Given the description of an element on the screen output the (x, y) to click on. 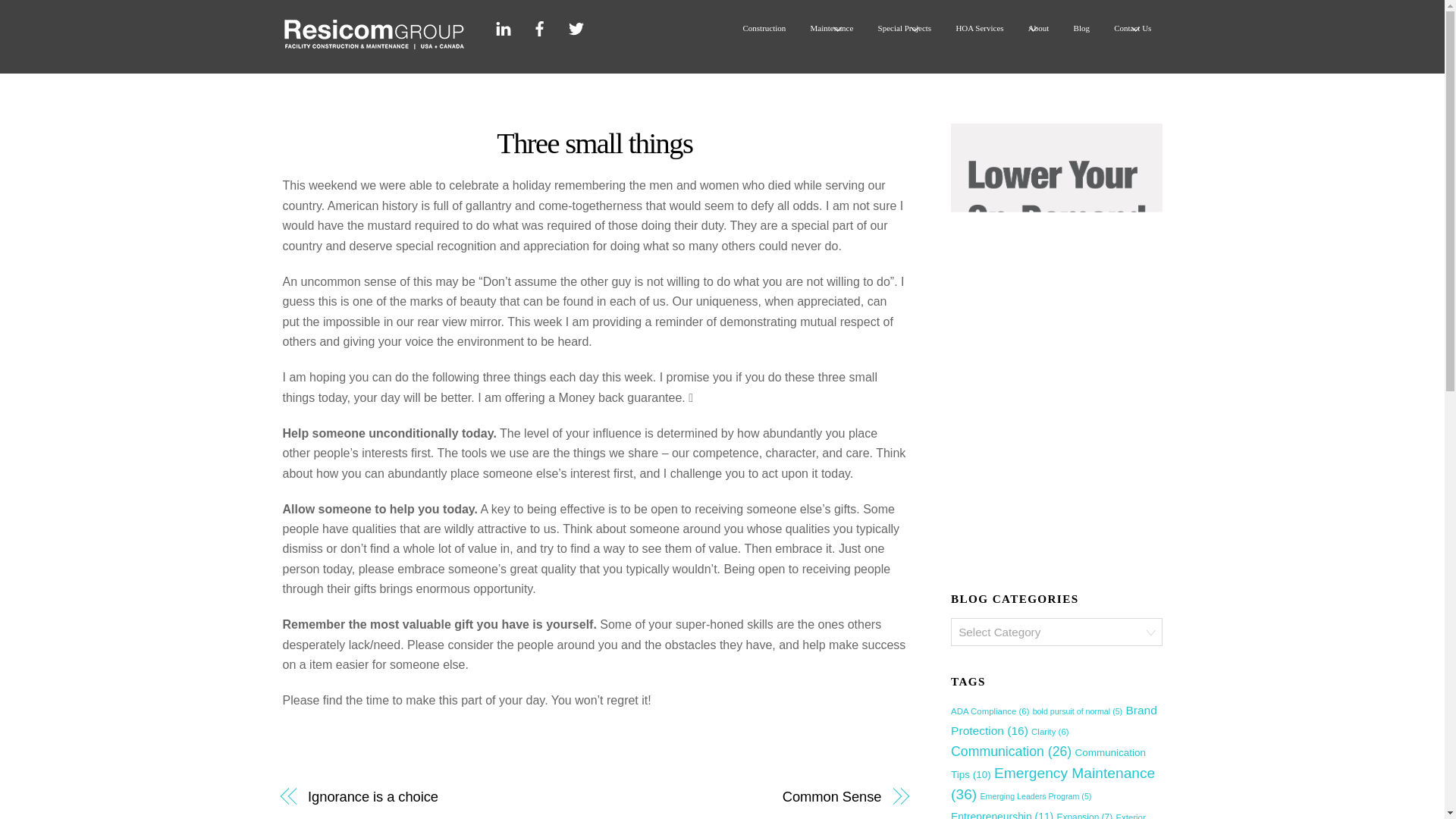
Construction (763, 28)
Contact Us (1133, 28)
Maintenance (831, 28)
Special Projects (903, 28)
HOA Services (979, 28)
Common Sense (746, 796)
Three small things (594, 142)
The Resicom Group (373, 44)
Ignorance is a choice (441, 796)
